Given the description of an element on the screen output the (x, y) to click on. 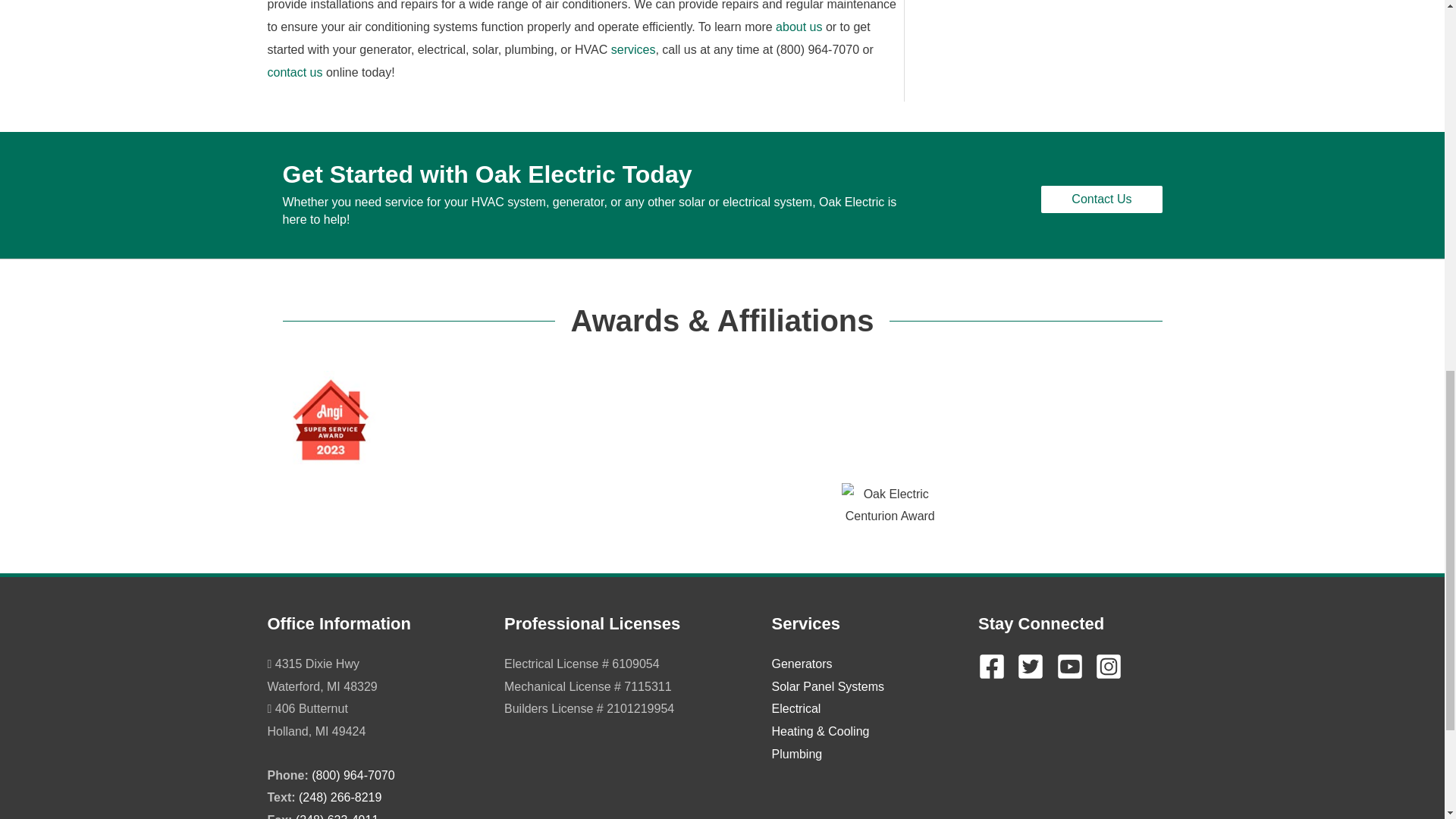
Click Here (1101, 198)
angi-2023 (330, 419)
